Given the description of an element on the screen output the (x, y) to click on. 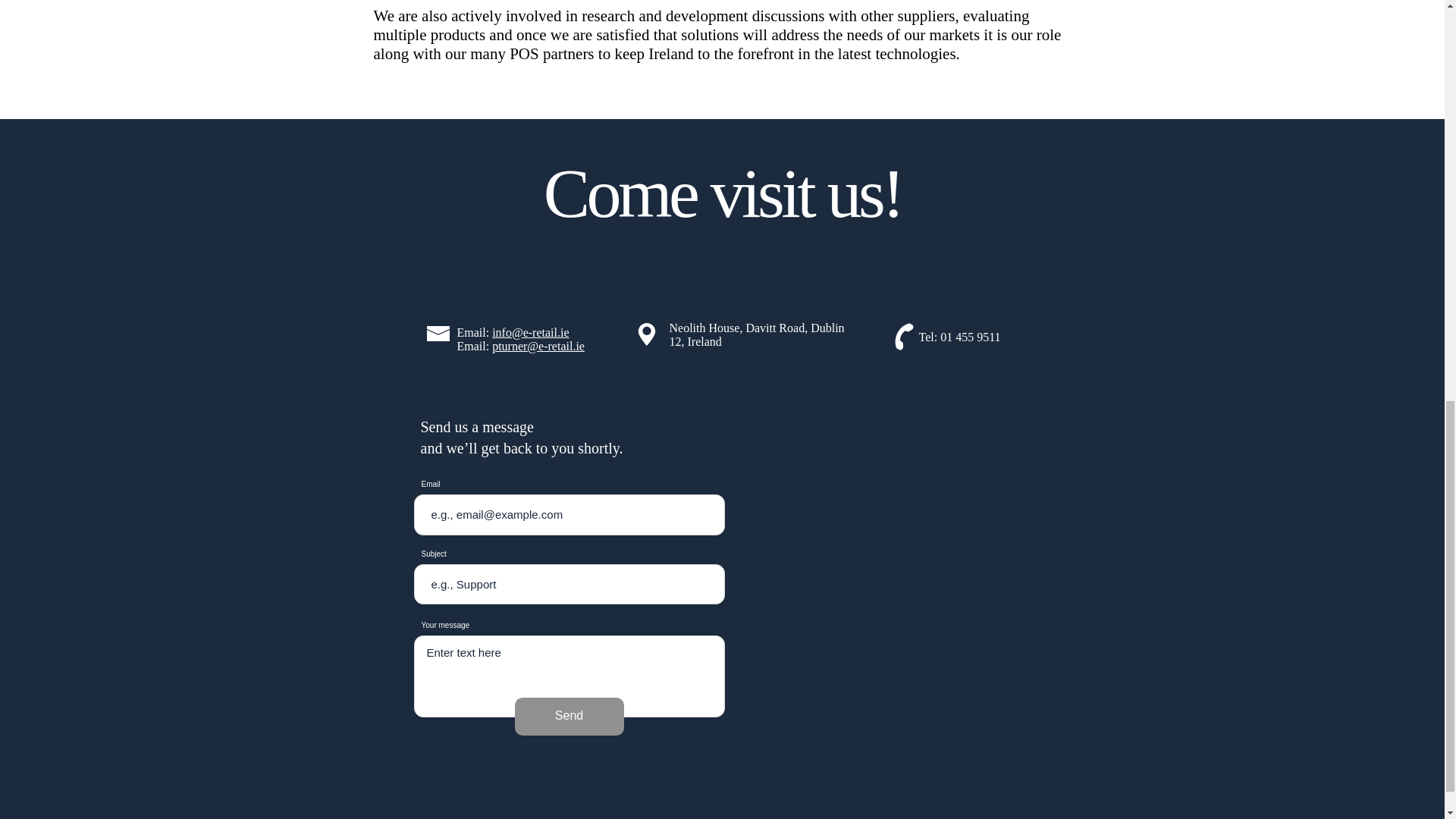
Send (568, 716)
Email:  (474, 332)
